Given the description of an element on the screen output the (x, y) to click on. 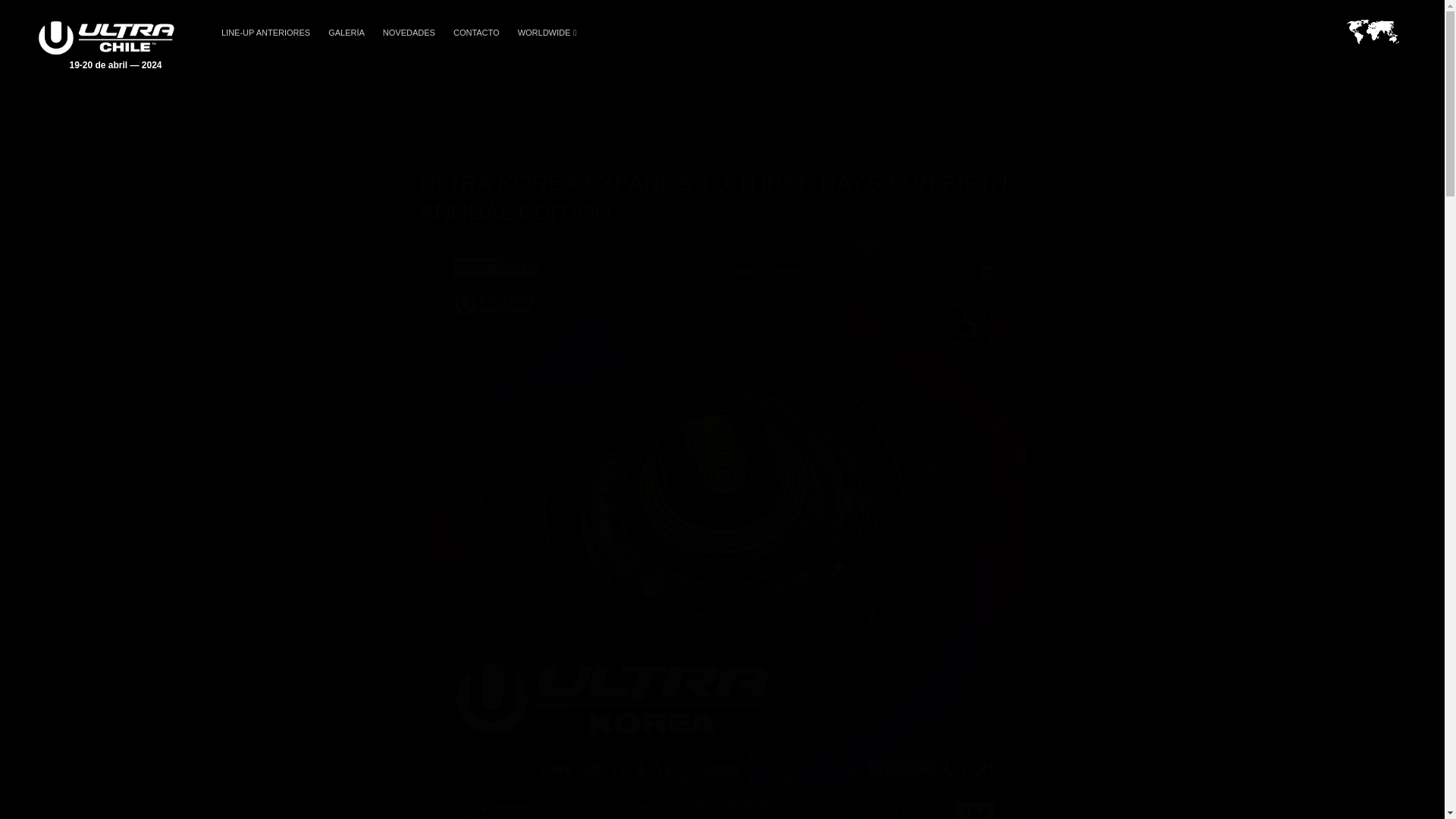
LINE-UP ANTERIORES (265, 33)
NOVEDADES (409, 33)
WORLDWIDE (545, 33)
CONTACTO (476, 33)
Ultra Chile (105, 44)
